Given the description of an element on the screen output the (x, y) to click on. 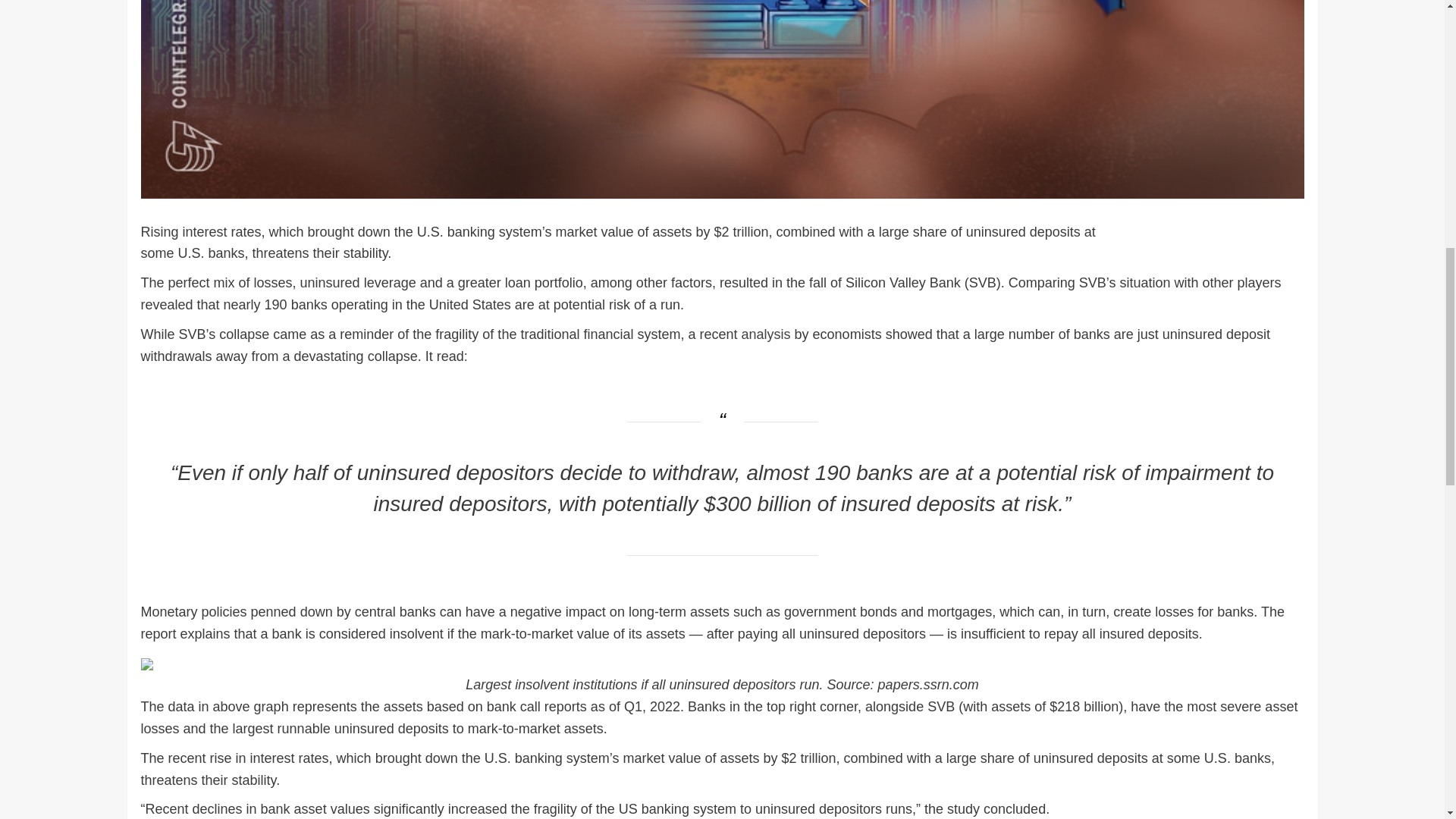
analysis (765, 334)
